Given the description of an element on the screen output the (x, y) to click on. 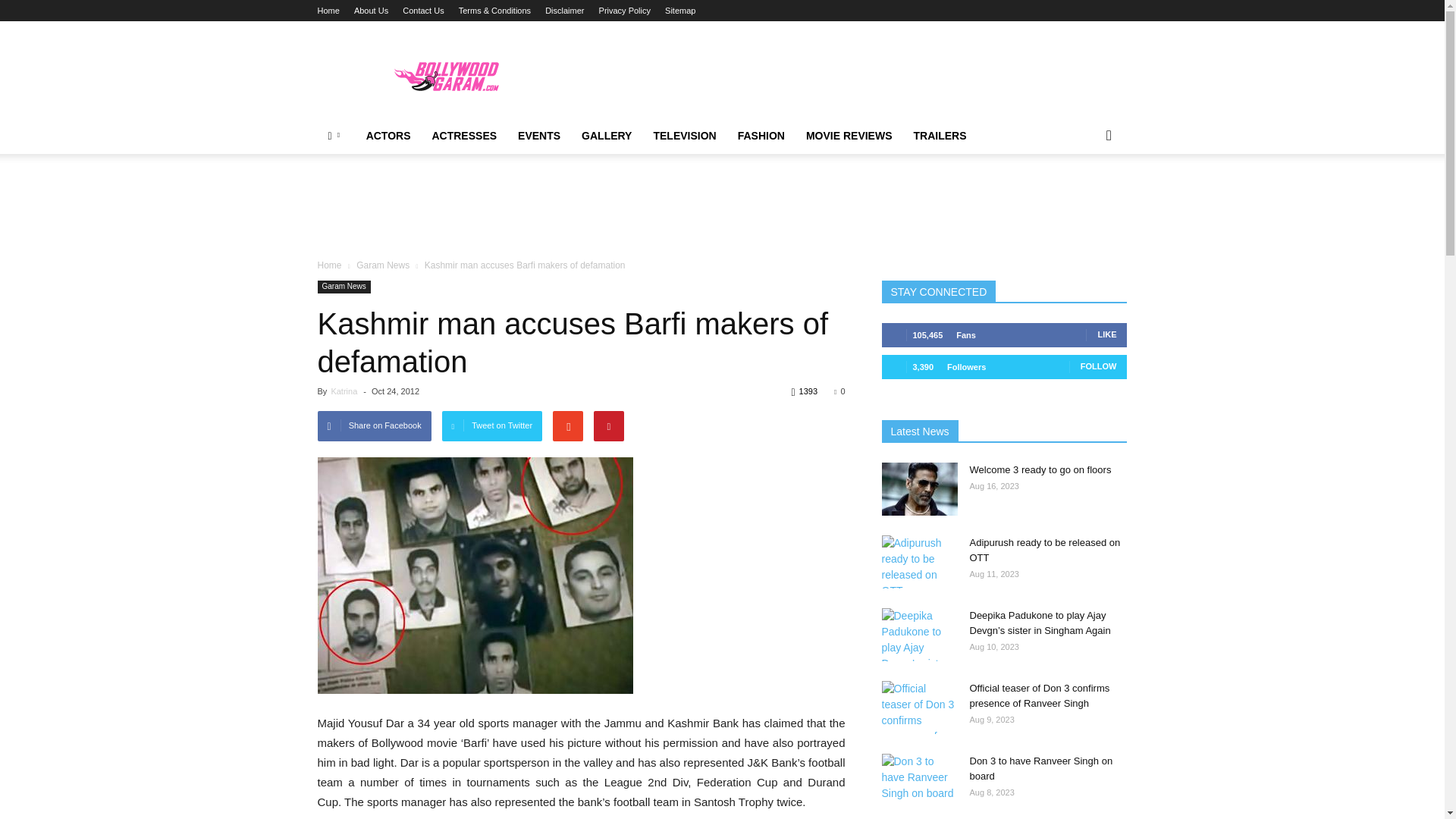
About Us (370, 10)
Adipurush ready to be released on OTT (918, 561)
Welcome 3 ready to go on floors (918, 488)
ACTORS (388, 135)
Welcome 3 ready to go on floors (1039, 469)
Privacy Policy (624, 10)
View all posts in Garam News (382, 265)
Disclaimer (563, 10)
Sitemap (680, 10)
Contact Us (423, 10)
